Given the description of an element on the screen output the (x, y) to click on. 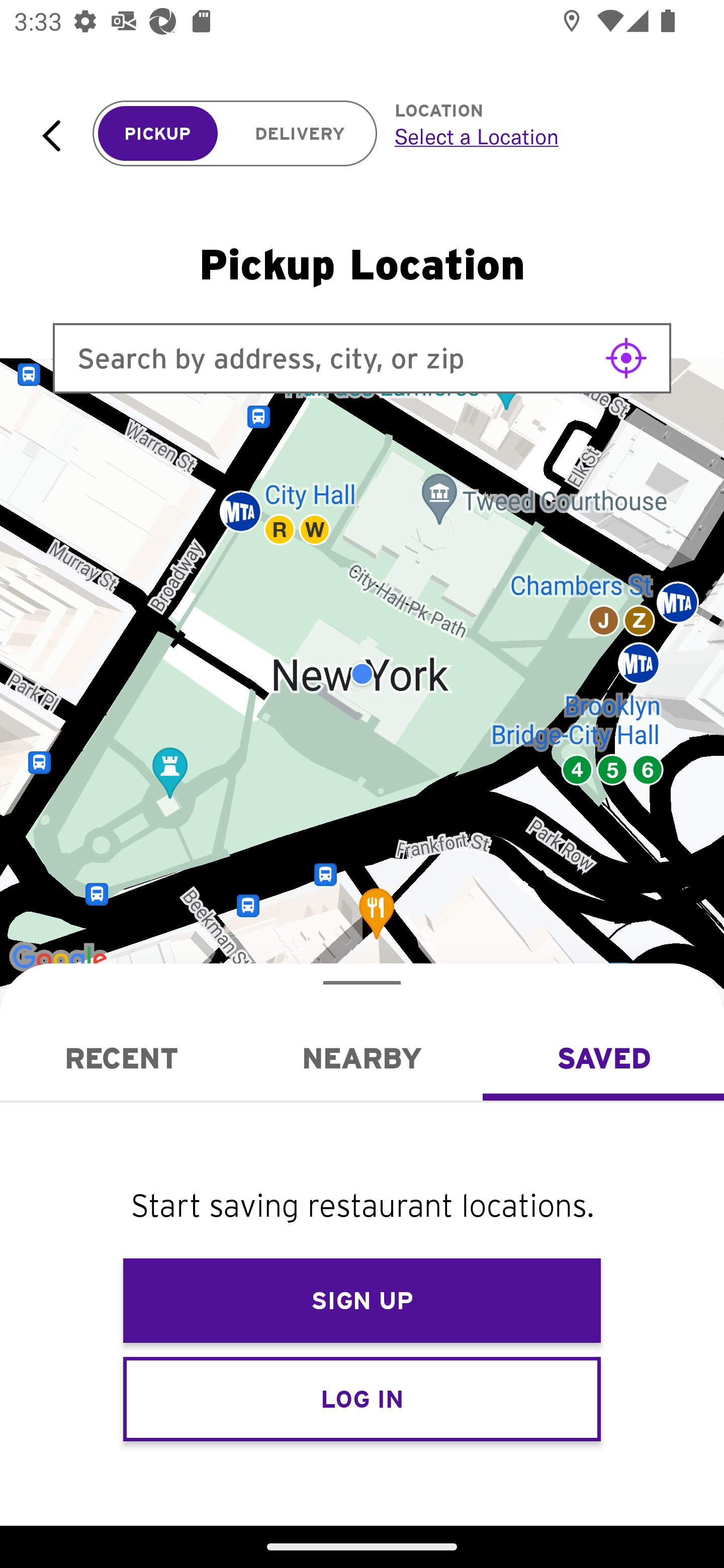
PICKUP (157, 133)
DELIVERY (299, 133)
Select a Location (536, 136)
Search by address, city, or zip (361, 358)
Google Map (362, 674)
Recent RECENT (120, 1058)
Nearby NEARBY (361, 1058)
SIGN UP (361, 1300)
LOG IN (361, 1398)
